Given the description of an element on the screen output the (x, y) to click on. 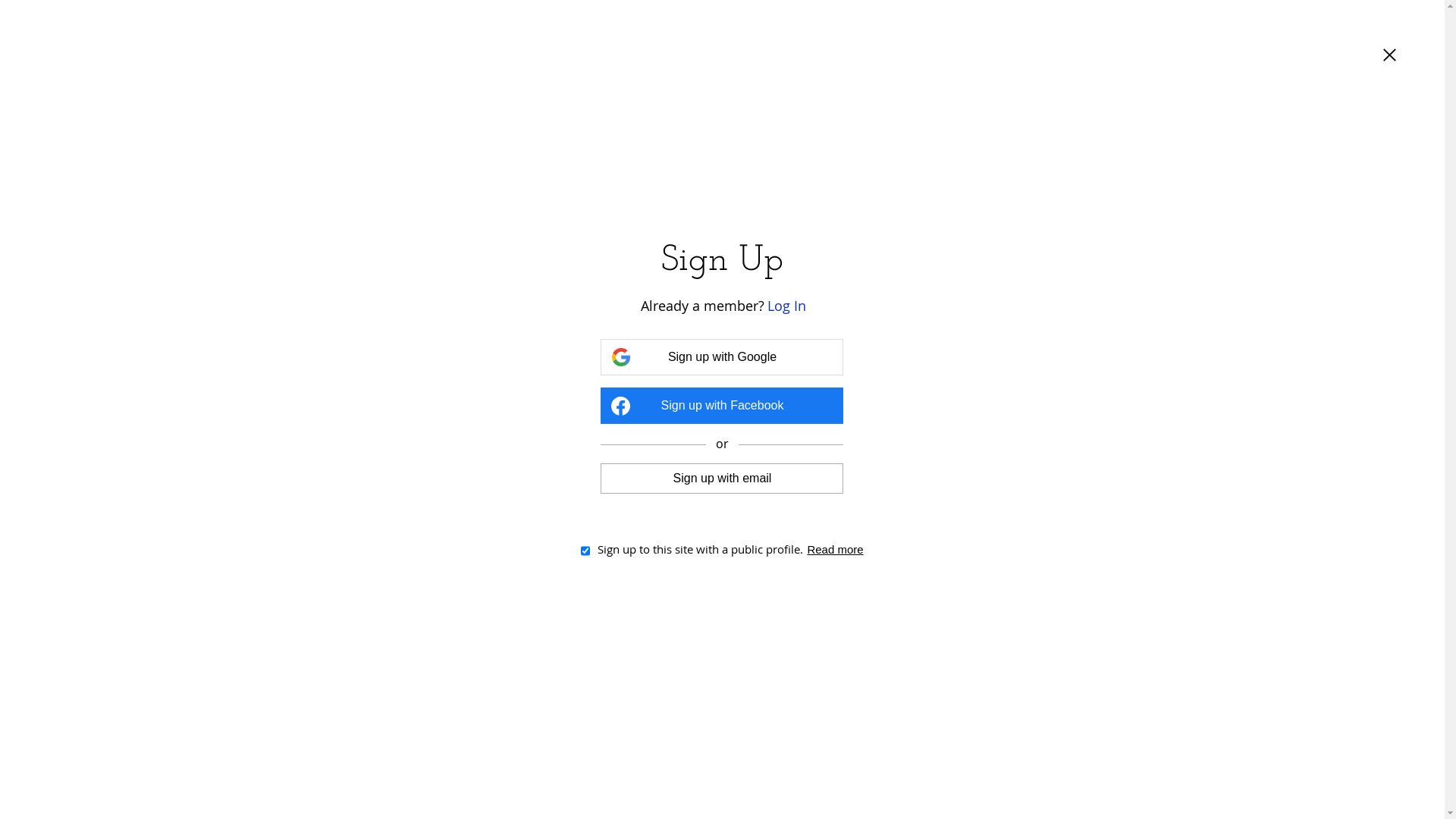
Sign up with Facebook Element type: text (721, 405)
Read more Element type: text (834, 548)
Sign up with email Element type: text (721, 478)
Log In Element type: text (786, 305)
Sign up with Google Element type: text (721, 356)
